Given the description of an element on the screen output the (x, y) to click on. 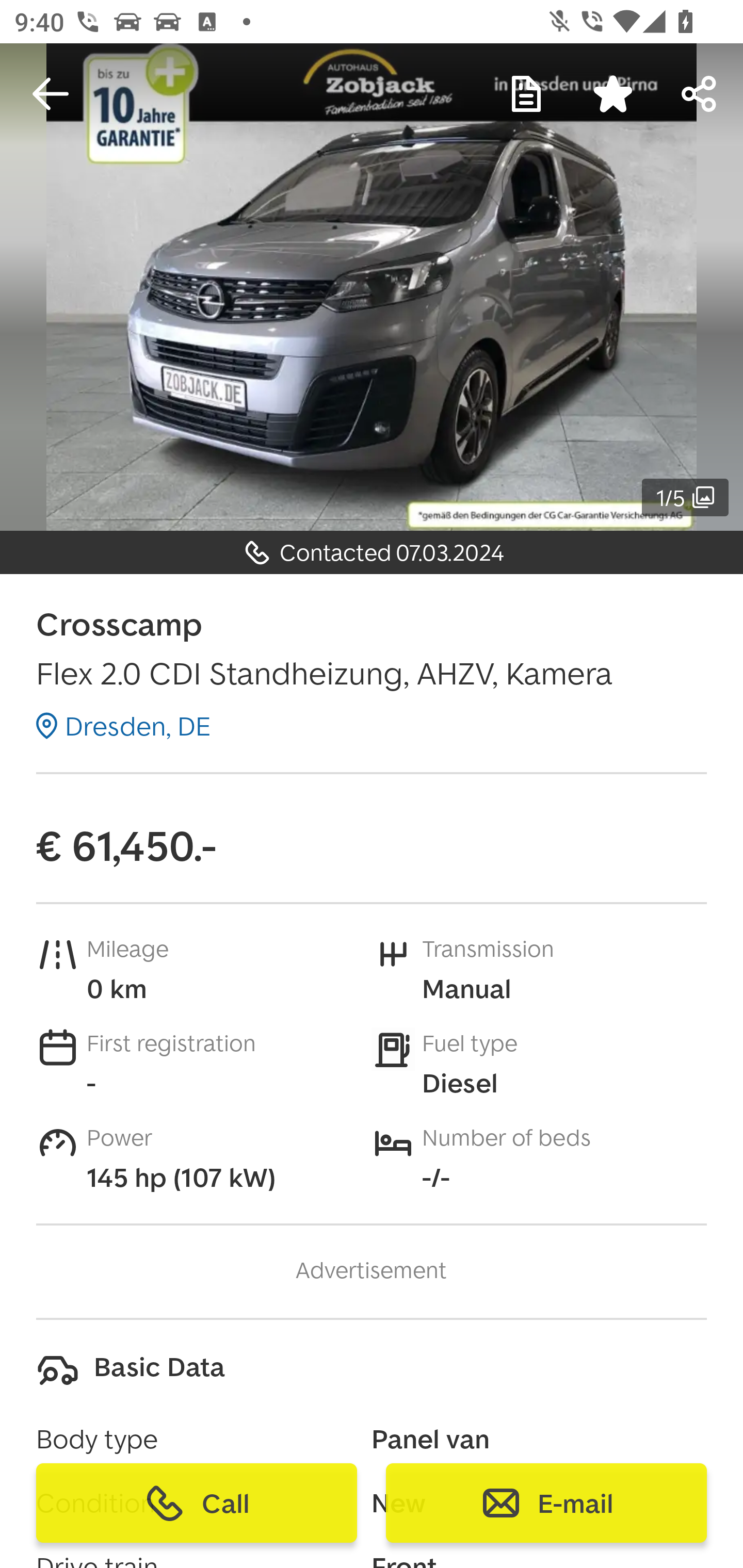
Navigate up (50, 93)
My Notes (525, 93)
Saved (612, 93)
Forward (699, 93)
Dresden, DE (123, 725)
Call (196, 1502)
E-mail (545, 1502)
